Given the description of an element on the screen output the (x, y) to click on. 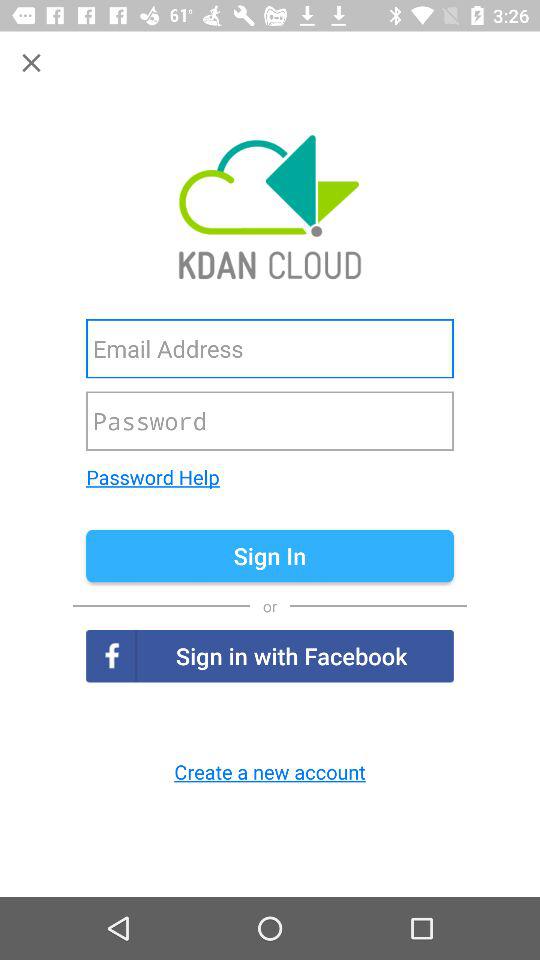
close button (31, 62)
